Given the description of an element on the screen output the (x, y) to click on. 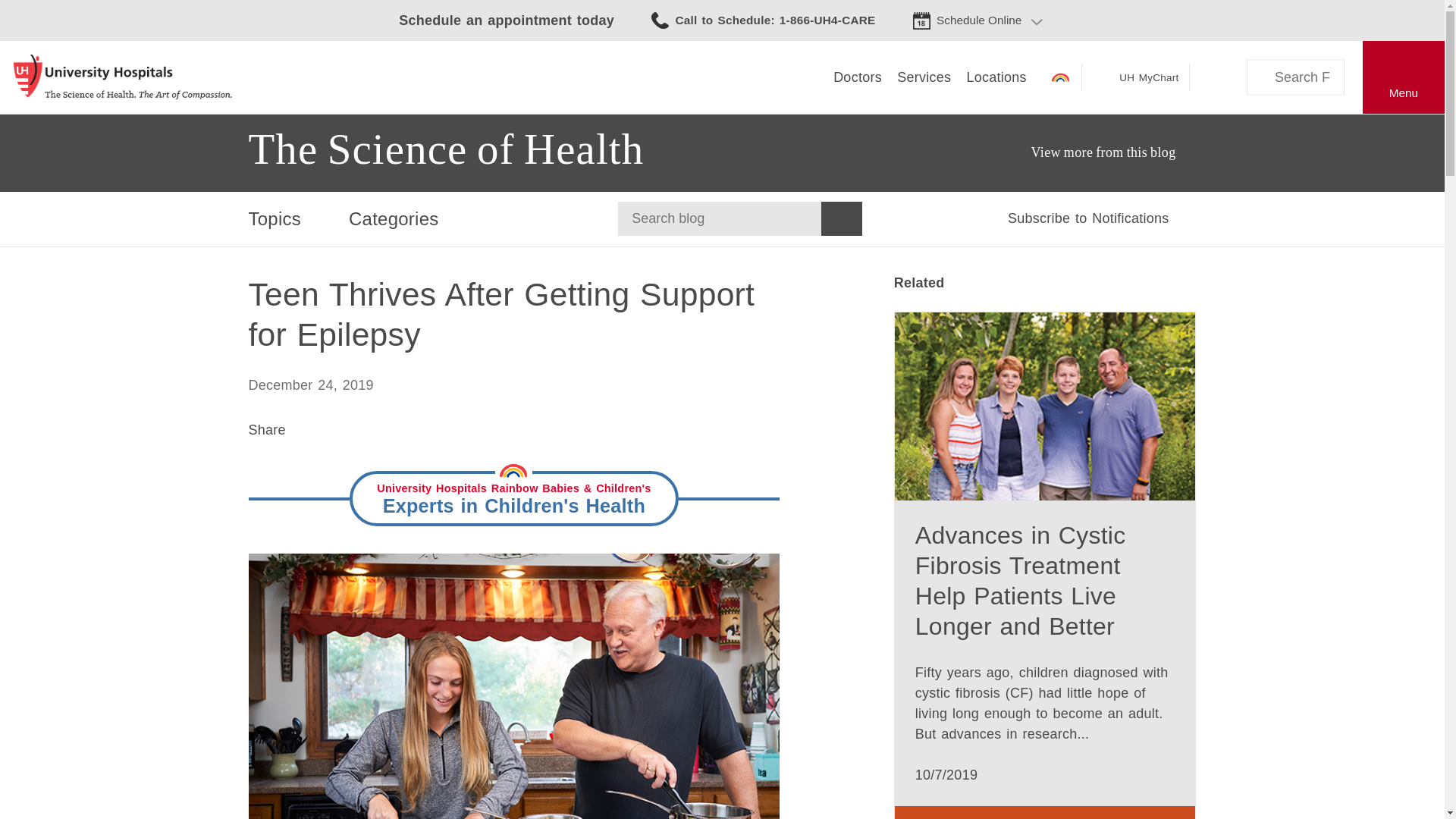
Call to Schedule: 1-866-UH4-CARE (763, 20)
Schedule Online (978, 20)
